Given the description of an element on the screen output the (x, y) to click on. 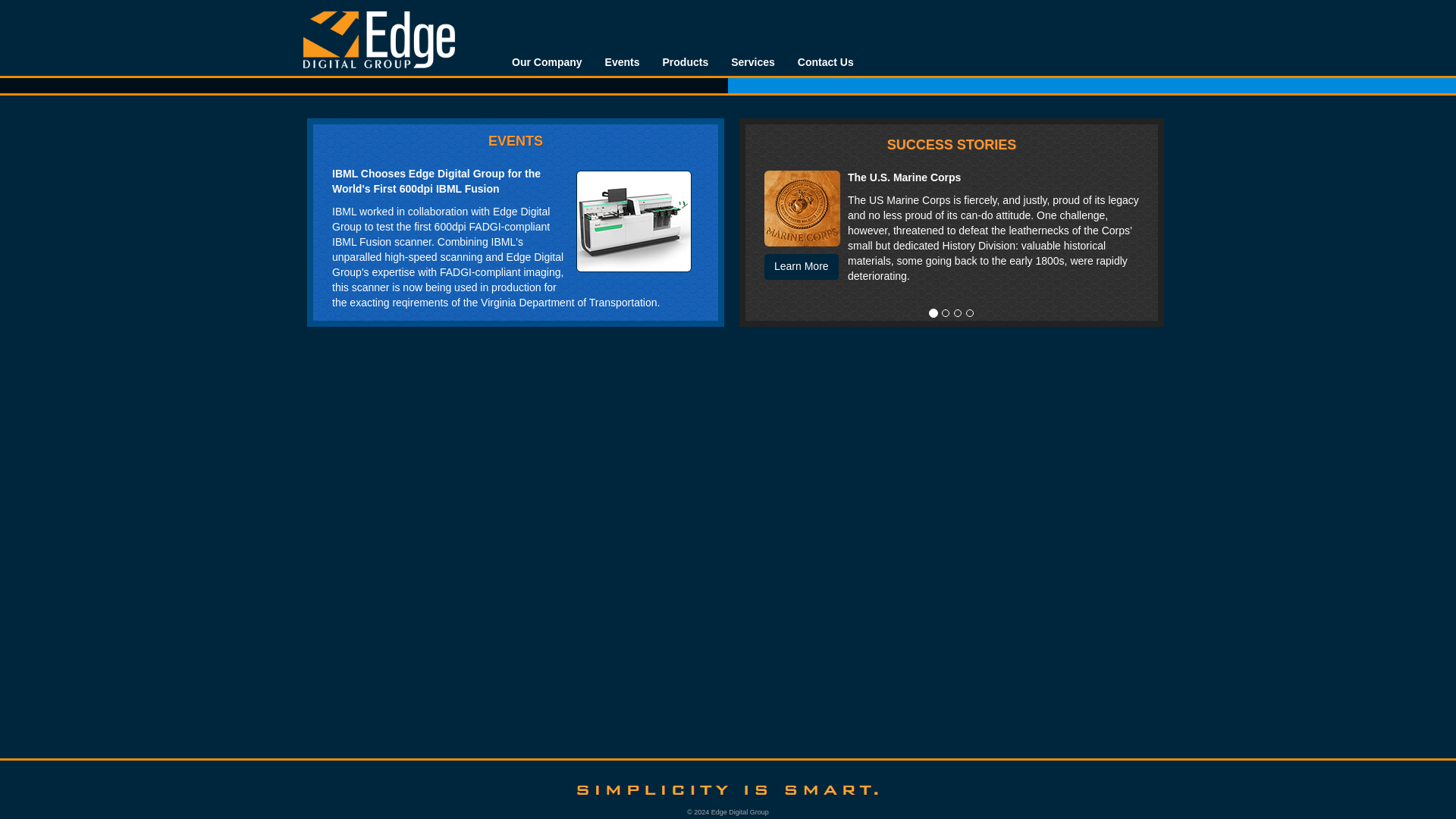
Our Company (547, 60)
Products (684, 60)
Events (622, 60)
Services (752, 60)
Contact Us (825, 60)
Learn More (801, 266)
